Given the description of an element on the screen output the (x, y) to click on. 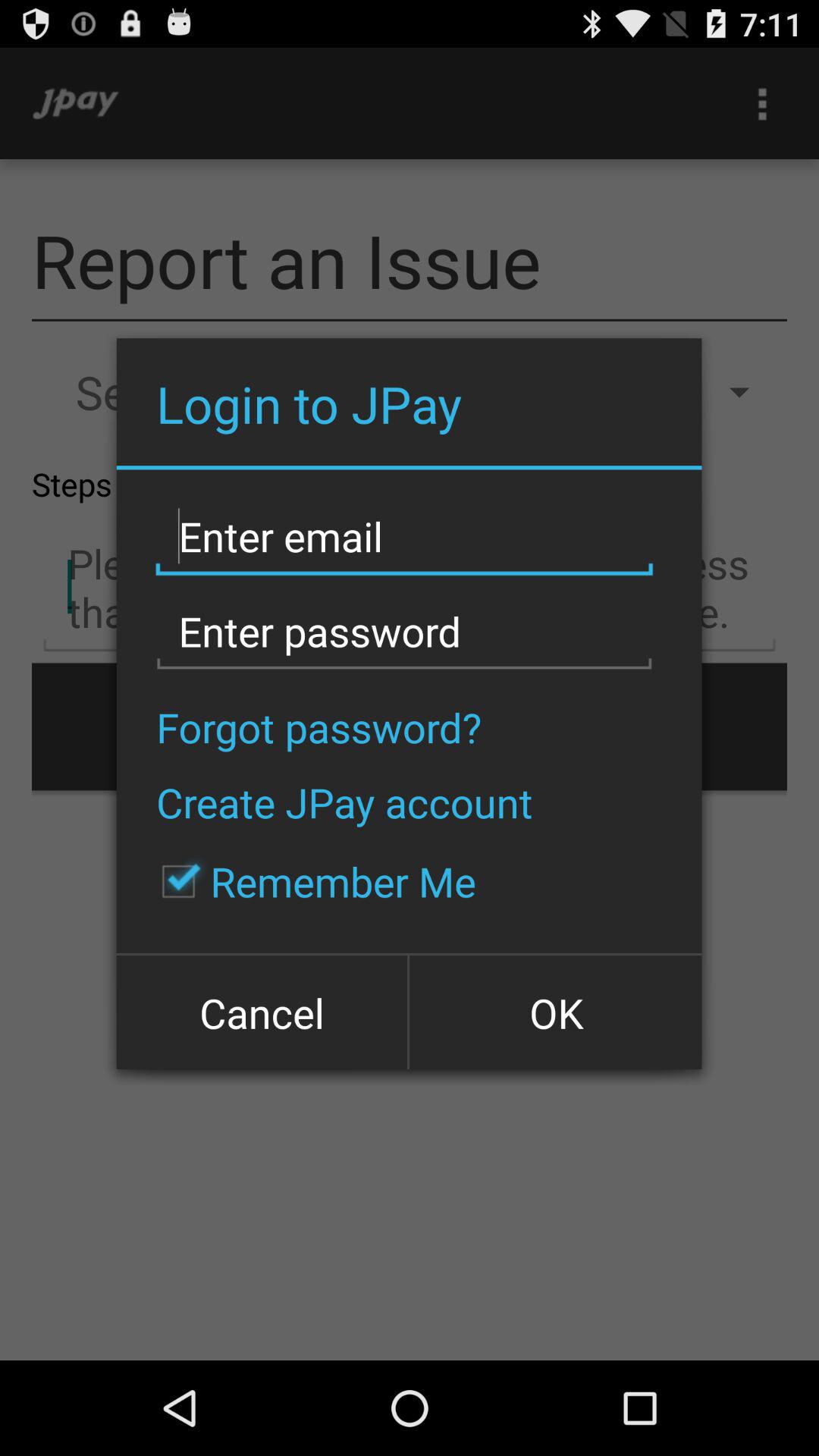
type password (404, 631)
